Given the description of an element on the screen output the (x, y) to click on. 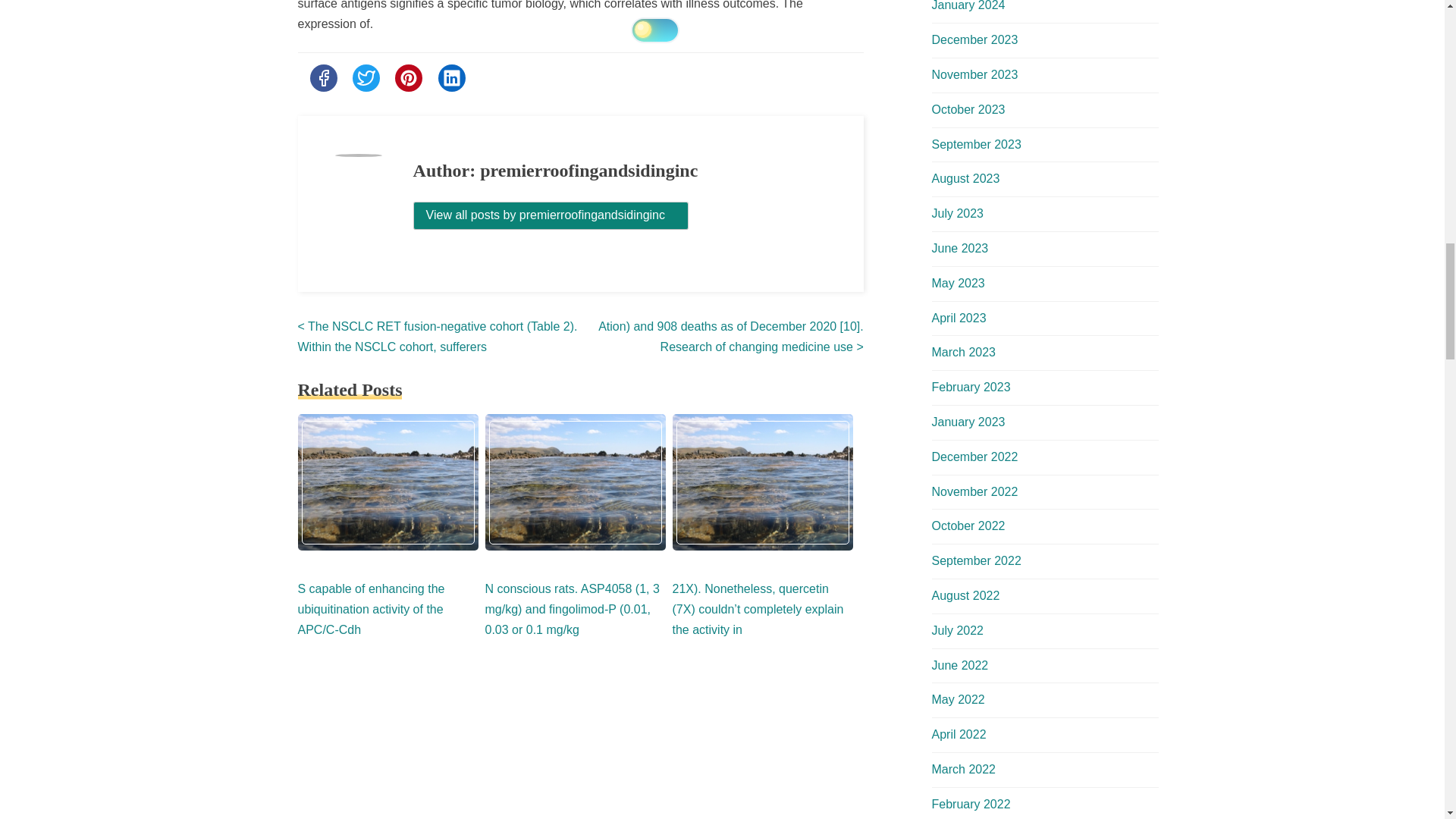
Share this post on Linkedin (451, 77)
View all posts by premierroofingandsidinginc (550, 215)
View all posts by premierroofingandsidinginc (550, 214)
Share this post on Facebook (322, 77)
Share this post on Twitter (366, 77)
Share this post on Pinterest (408, 77)
